Given the description of an element on the screen output the (x, y) to click on. 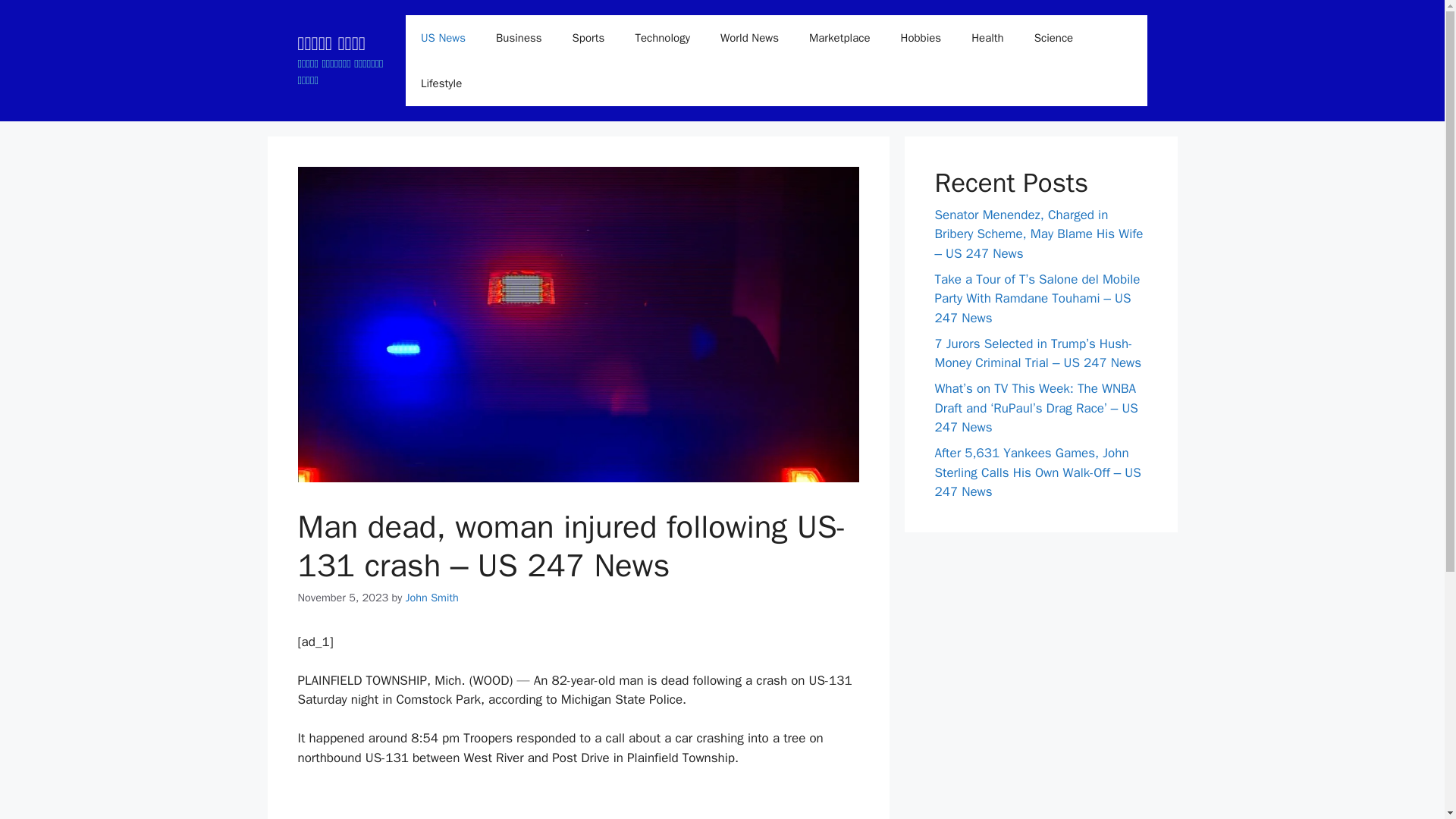
Sports (588, 37)
John Smith (432, 597)
Hobbies (920, 37)
US News (443, 37)
Technology (662, 37)
Business (518, 37)
Science (1054, 37)
Marketplace (839, 37)
World News (748, 37)
Lifestyle (441, 83)
